Given the description of an element on the screen output the (x, y) to click on. 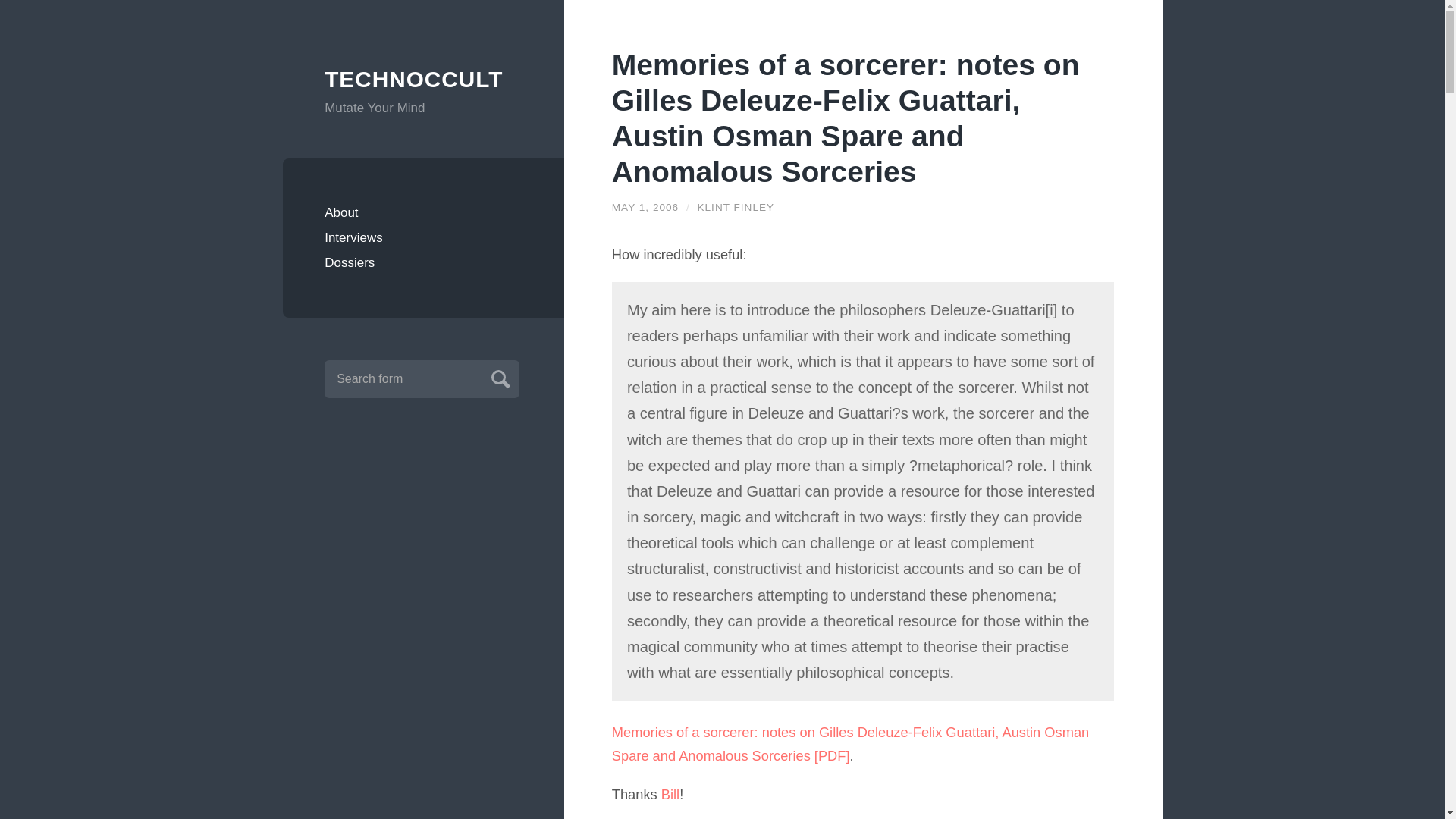
Search (498, 377)
MAY 1, 2006 (644, 206)
KLINT FINLEY (735, 206)
About (422, 212)
Dossiers (422, 262)
Posts by Klint Finley (735, 206)
Bill (670, 794)
TECHNOCCULT (422, 79)
Interviews (422, 237)
Submit (498, 377)
